Given the description of an element on the screen output the (x, y) to click on. 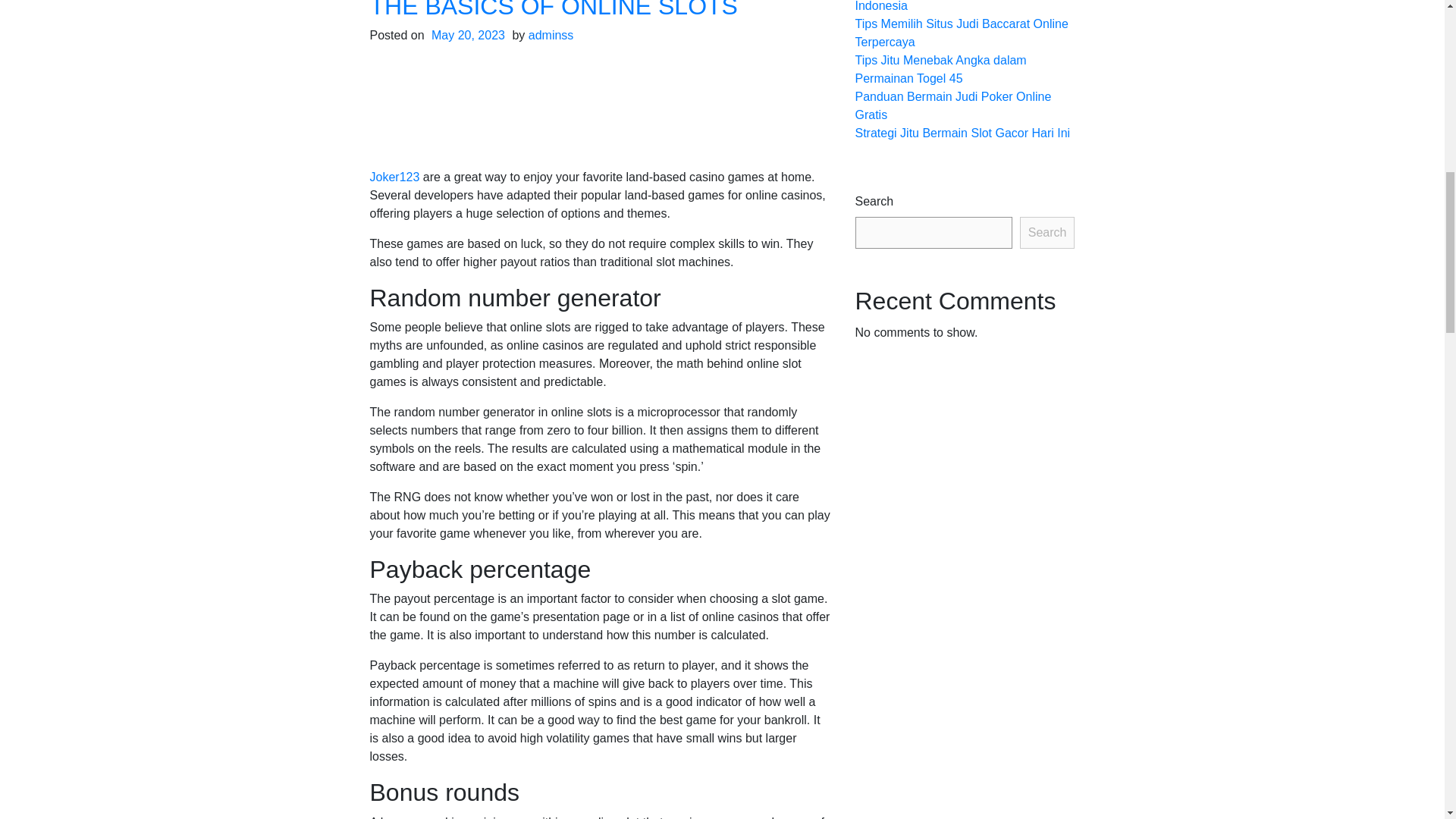
May 20, 2023 (468, 34)
THE BASICS OF ONLINE SLOTS (553, 9)
Joker123 (394, 176)
adminss (550, 34)
